Given the description of an element on the screen output the (x, y) to click on. 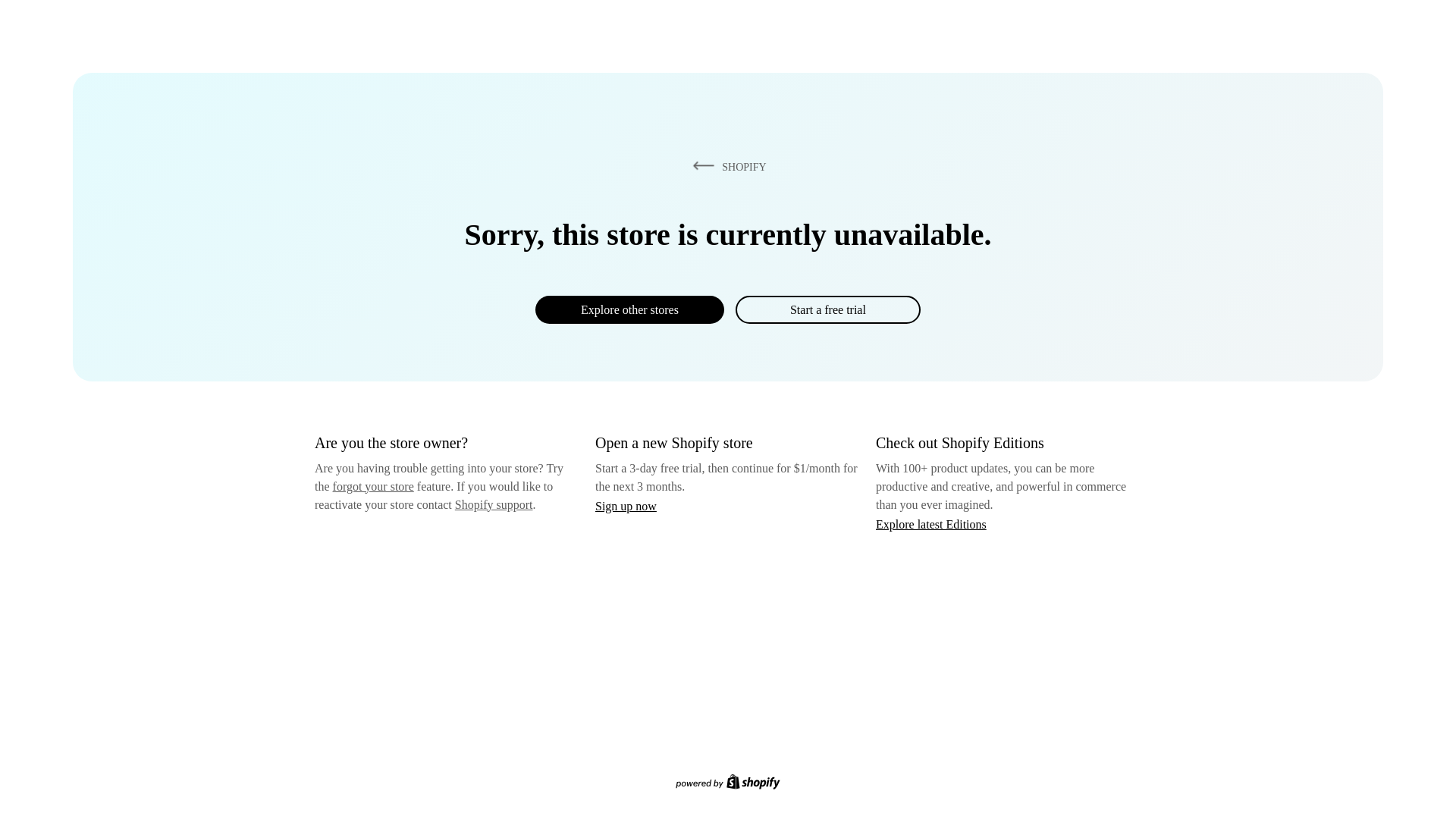
forgot your store (373, 486)
Explore latest Editions (931, 523)
Explore other stores (629, 309)
Sign up now (625, 505)
SHOPIFY (726, 166)
Shopify support (493, 504)
Start a free trial (827, 309)
